Given the description of an element on the screen output the (x, y) to click on. 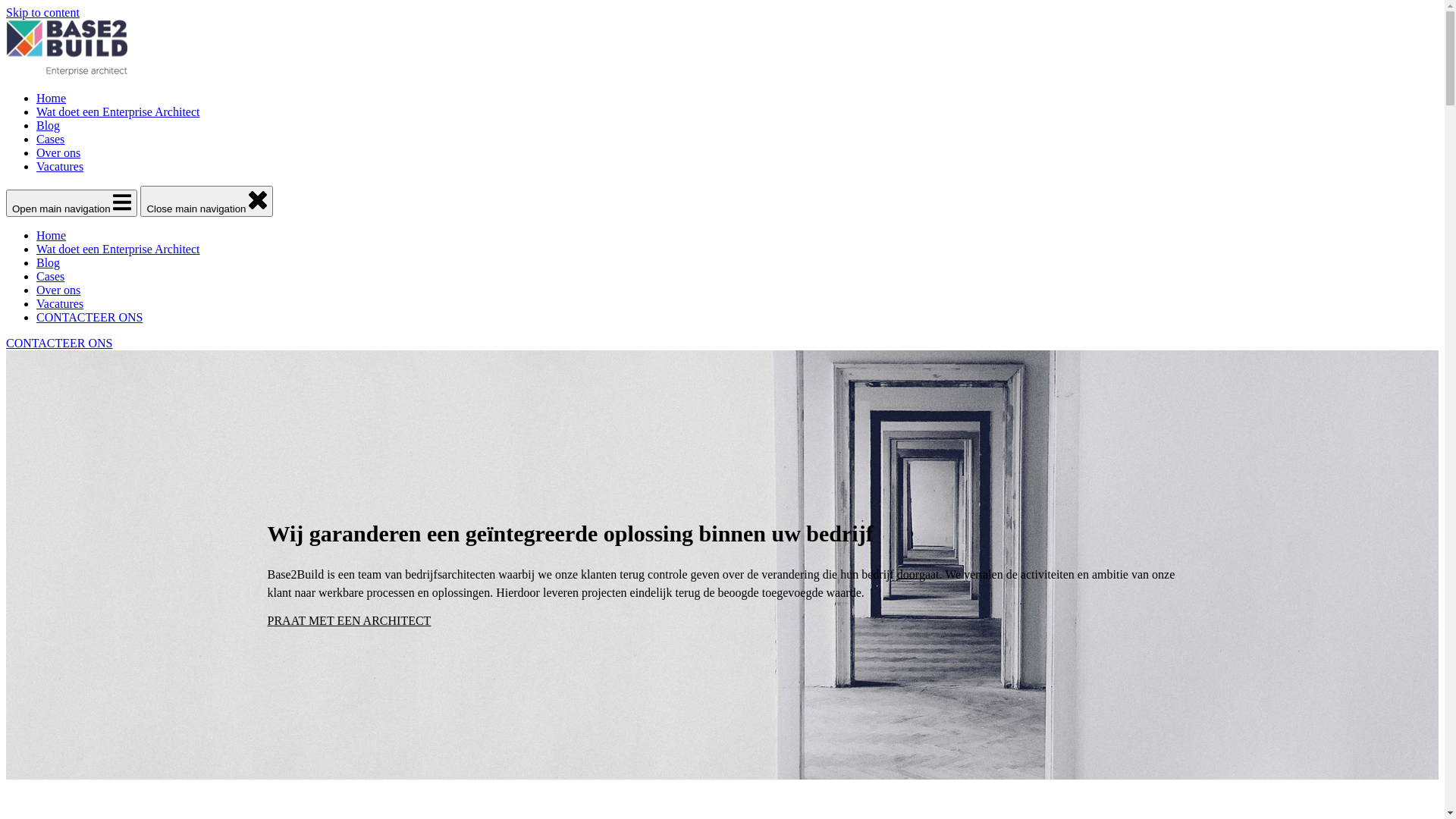
Over ons Element type: text (58, 152)
Close main navigation Element type: text (206, 200)
Cases Element type: text (50, 138)
Over ons Element type: text (58, 289)
PRAAT MET EEN ARCHITECT Element type: text (348, 620)
Home Element type: text (50, 97)
Cases Element type: text (50, 275)
Vacatures Element type: text (59, 166)
Open main navigation Element type: text (71, 202)
Blog Element type: text (47, 262)
Wat doet een Enterprise Architect Element type: text (118, 111)
Vacatures Element type: text (59, 303)
Blog Element type: text (47, 125)
CONTACTEER ONS Element type: text (89, 316)
Wat doet een Enterprise Architect Element type: text (118, 248)
CONTACTEER ONS Element type: text (59, 342)
Home Element type: text (50, 235)
Skip to content Element type: text (42, 12)
